Given the description of an element on the screen output the (x, y) to click on. 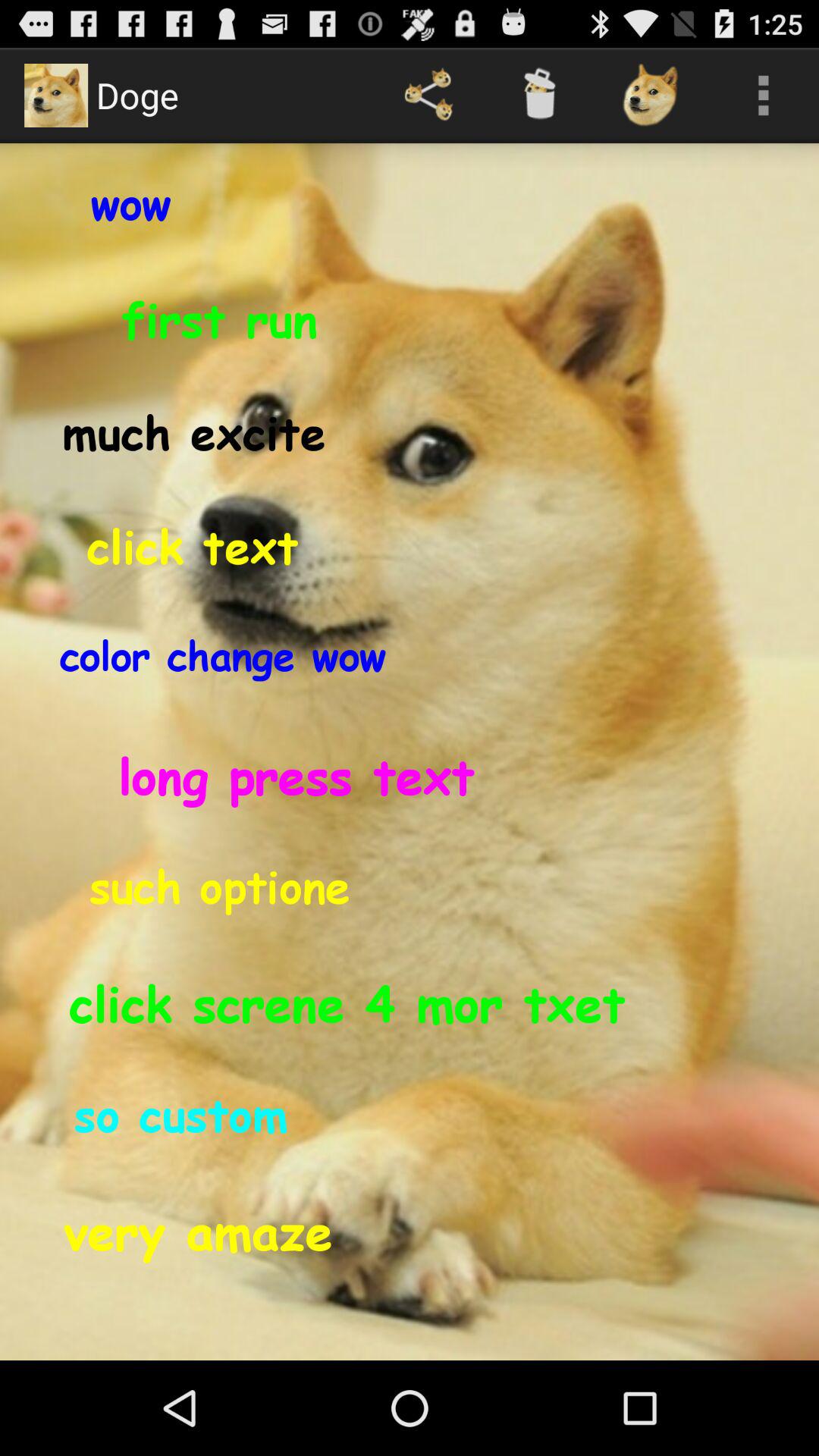
open the icon next to the doge (428, 95)
